Given the description of an element on the screen output the (x, y) to click on. 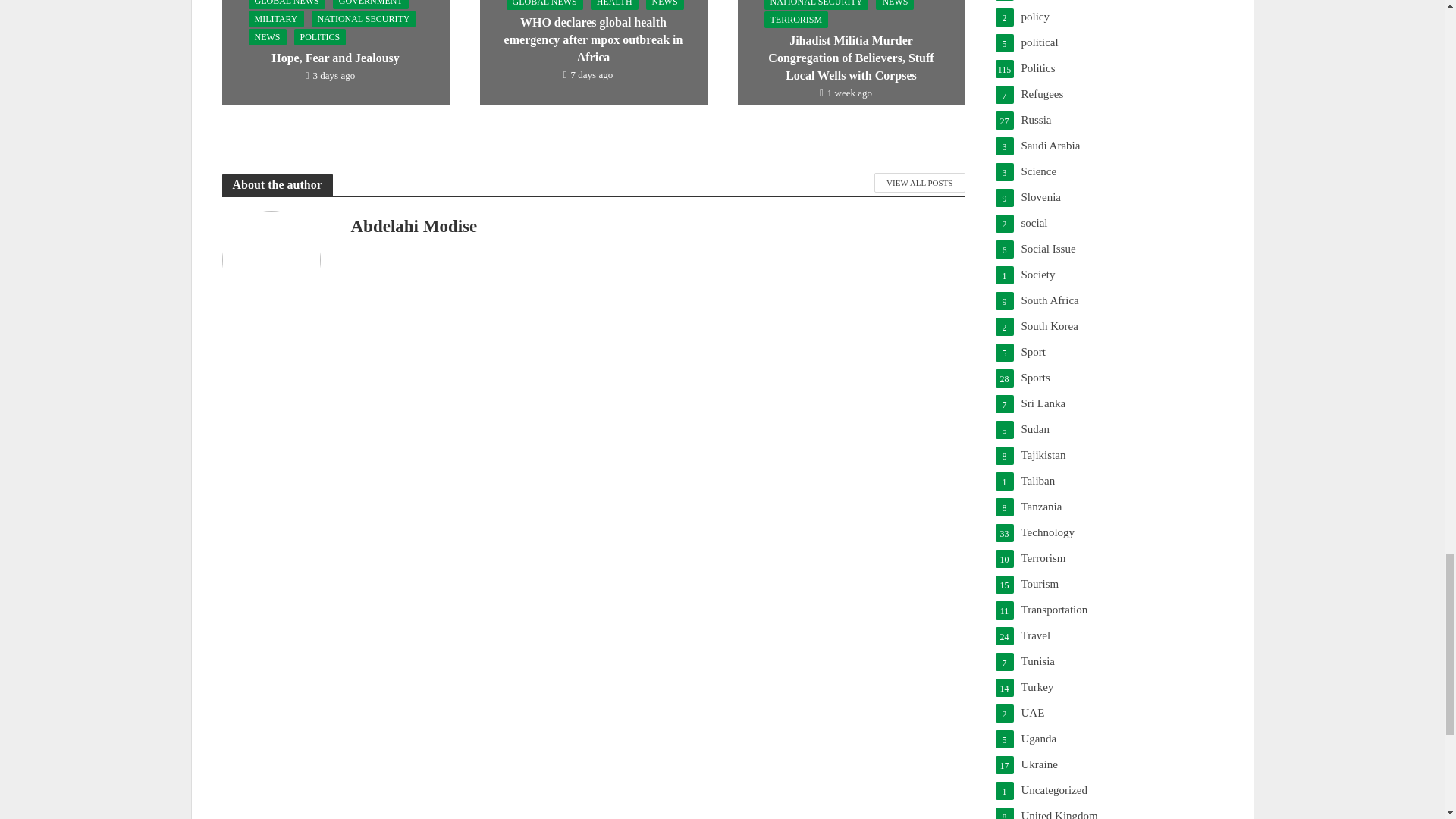
Hope, Fear and Jealousy (334, 28)
